Given the description of an element on the screen output the (x, y) to click on. 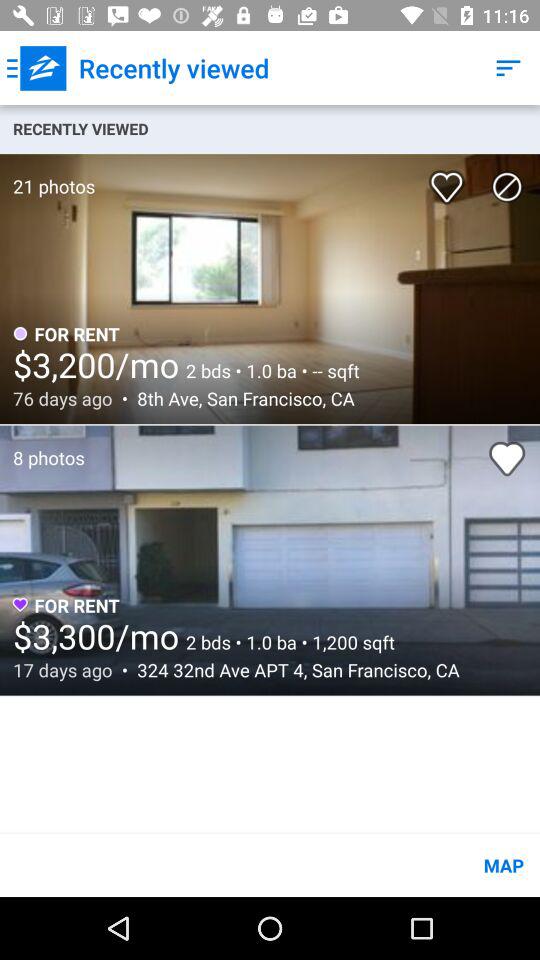
select the item above recently viewed icon (36, 68)
